Given the description of an element on the screen output the (x, y) to click on. 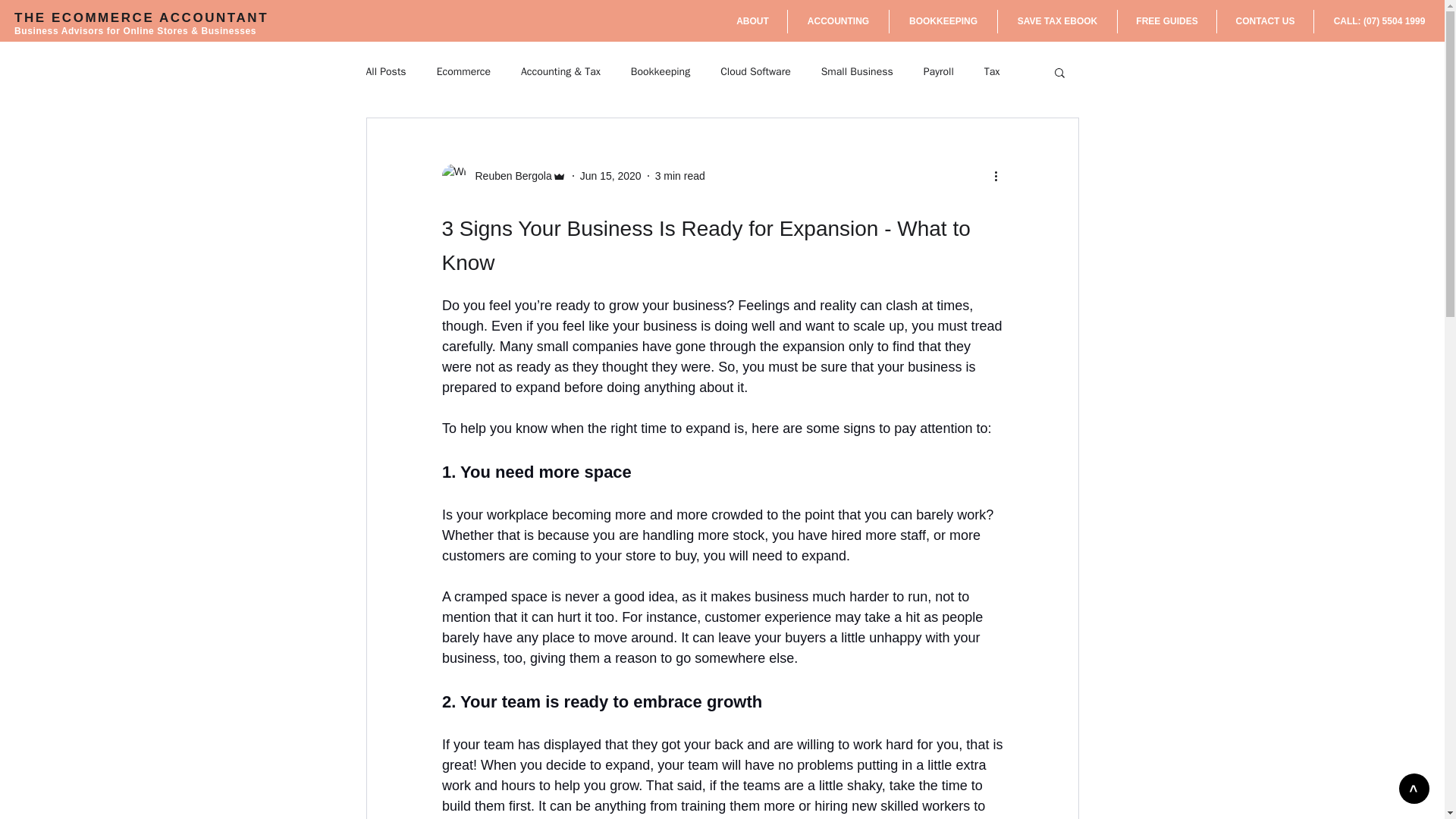
CONTACT US (1265, 21)
Ecommerce (463, 71)
Bookkeeping (660, 71)
Tax (992, 71)
Jun 15, 2020 (610, 175)
ABOUT (752, 21)
All Posts (385, 71)
FREE GUIDES (1166, 21)
BOOKKEEPING (943, 21)
Small Business (857, 71)
3 min read (679, 175)
Reuben Bergola (508, 176)
THE ECOMMERCE ACCOUNTANT (140, 17)
Cloud Software (755, 71)
Payroll (938, 71)
